Given the description of an element on the screen output the (x, y) to click on. 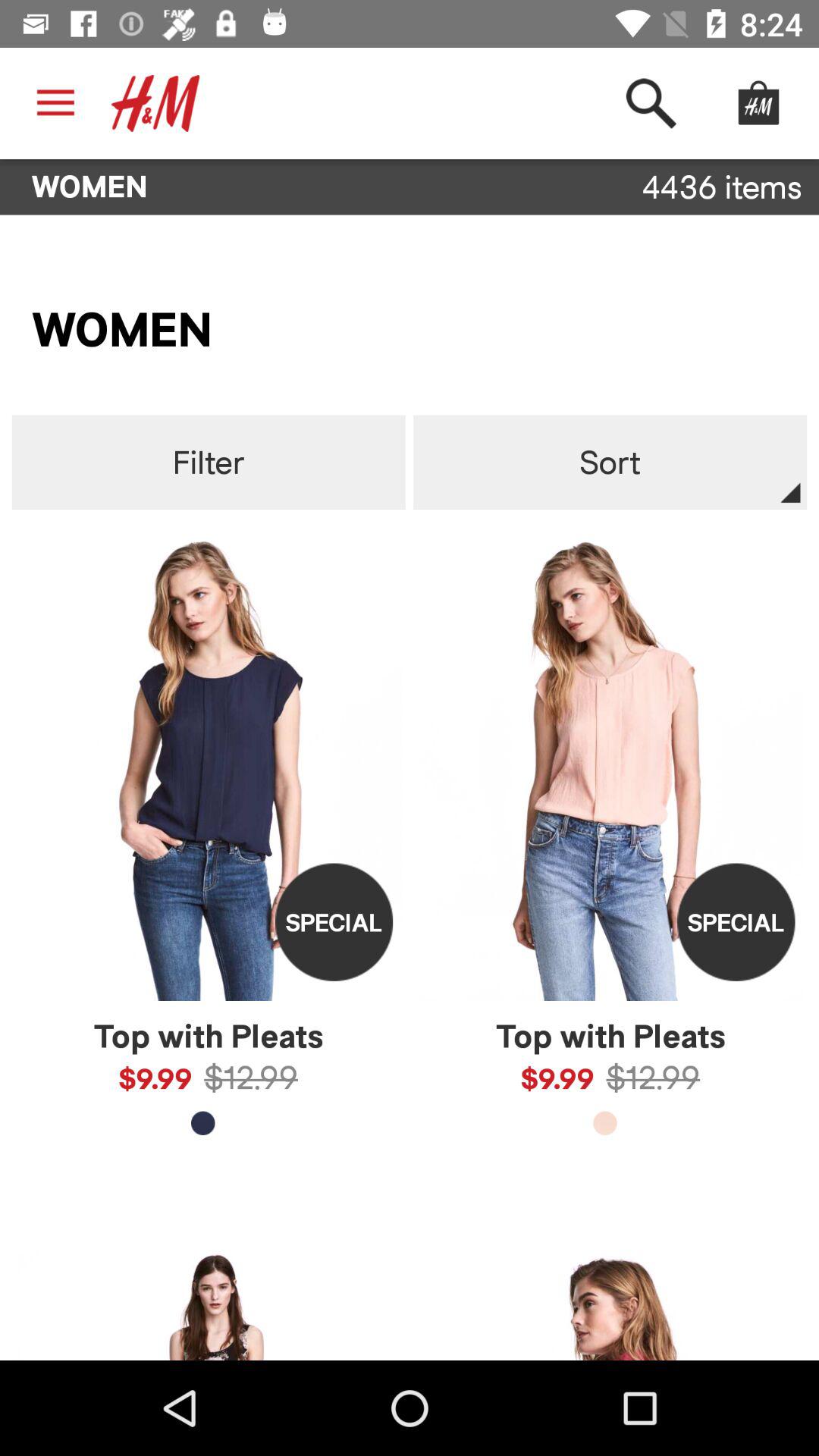
open filter item (208, 462)
